Given the description of an element on the screen output the (x, y) to click on. 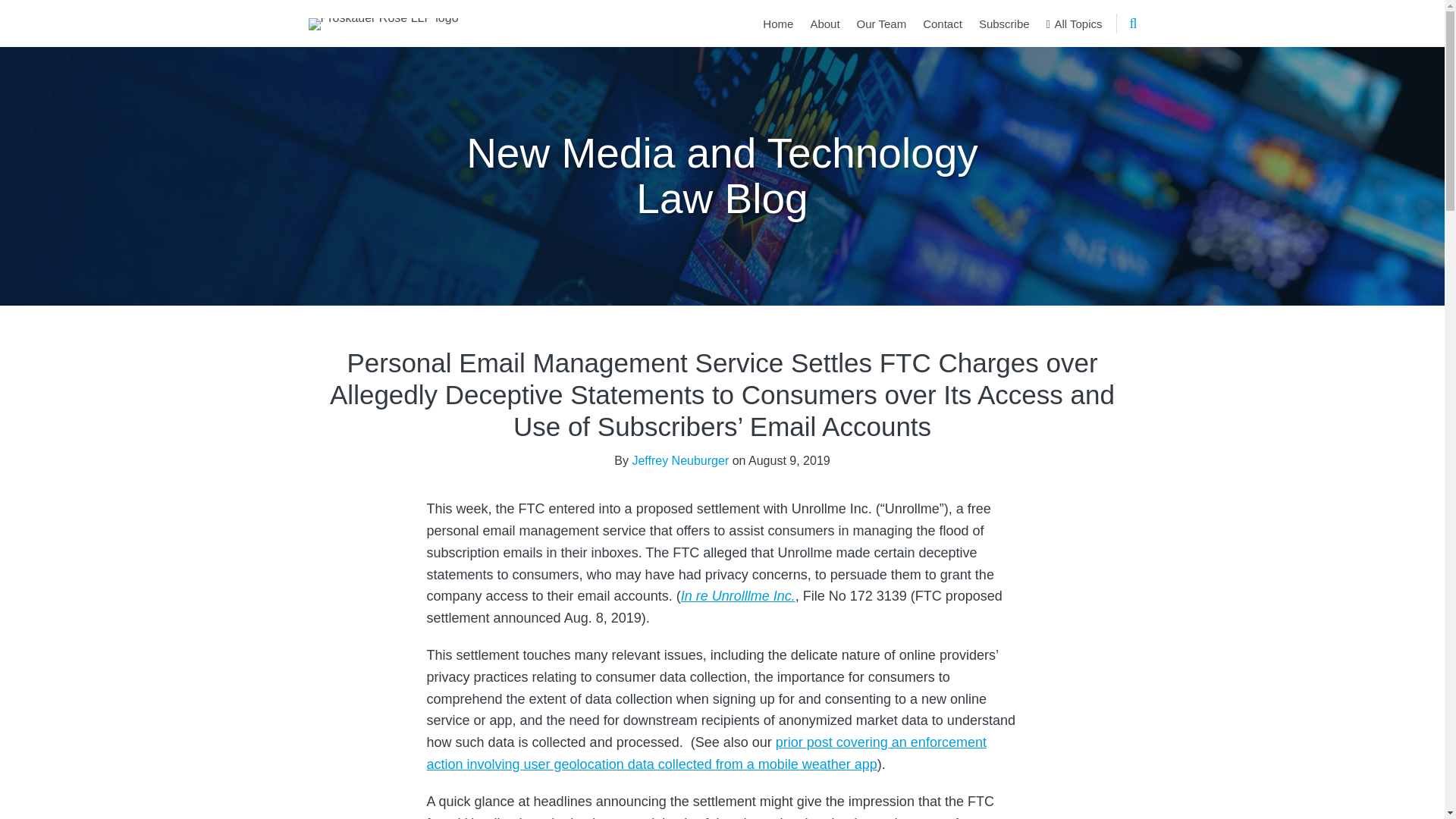
Subscribe (1003, 24)
About (824, 24)
Our Team (882, 24)
All Topics (1074, 24)
Contact (942, 24)
In re Unrolllme Inc. (737, 595)
New Media and Technology Law Blog (721, 175)
Jeffrey Neuburger (680, 460)
Home (777, 24)
